Given the description of an element on the screen output the (x, y) to click on. 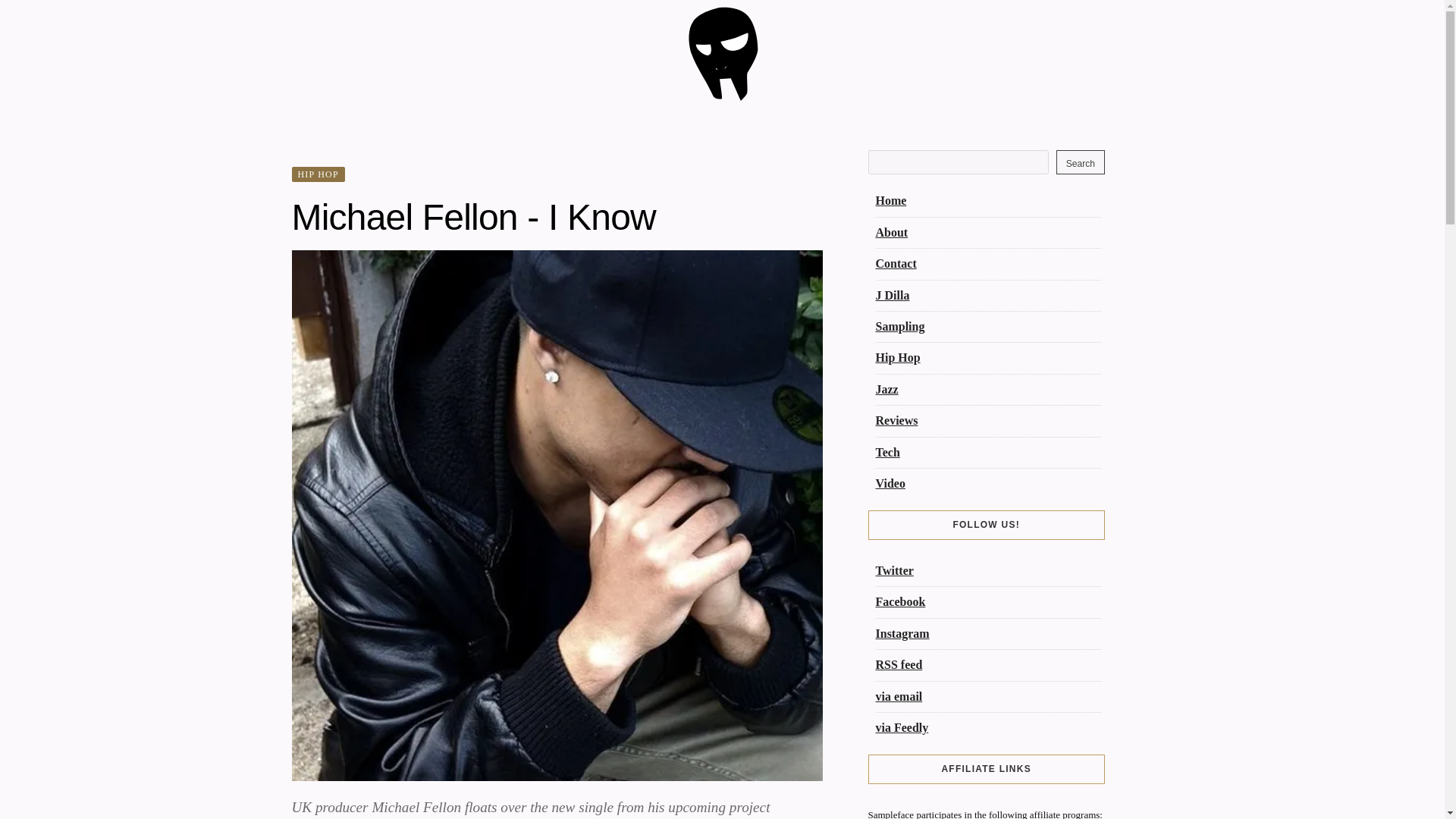
HIP HOP (317, 174)
Sampleface logo A black mask. (722, 97)
via email (898, 696)
Facebook (899, 601)
Sampling (899, 326)
About (891, 232)
Twitter (893, 570)
RSS feed (898, 664)
Contact (895, 263)
Tech (887, 451)
Home (890, 200)
Reviews (896, 420)
Search (1081, 161)
Video (889, 482)
Instagram (901, 633)
